Given the description of an element on the screen output the (x, y) to click on. 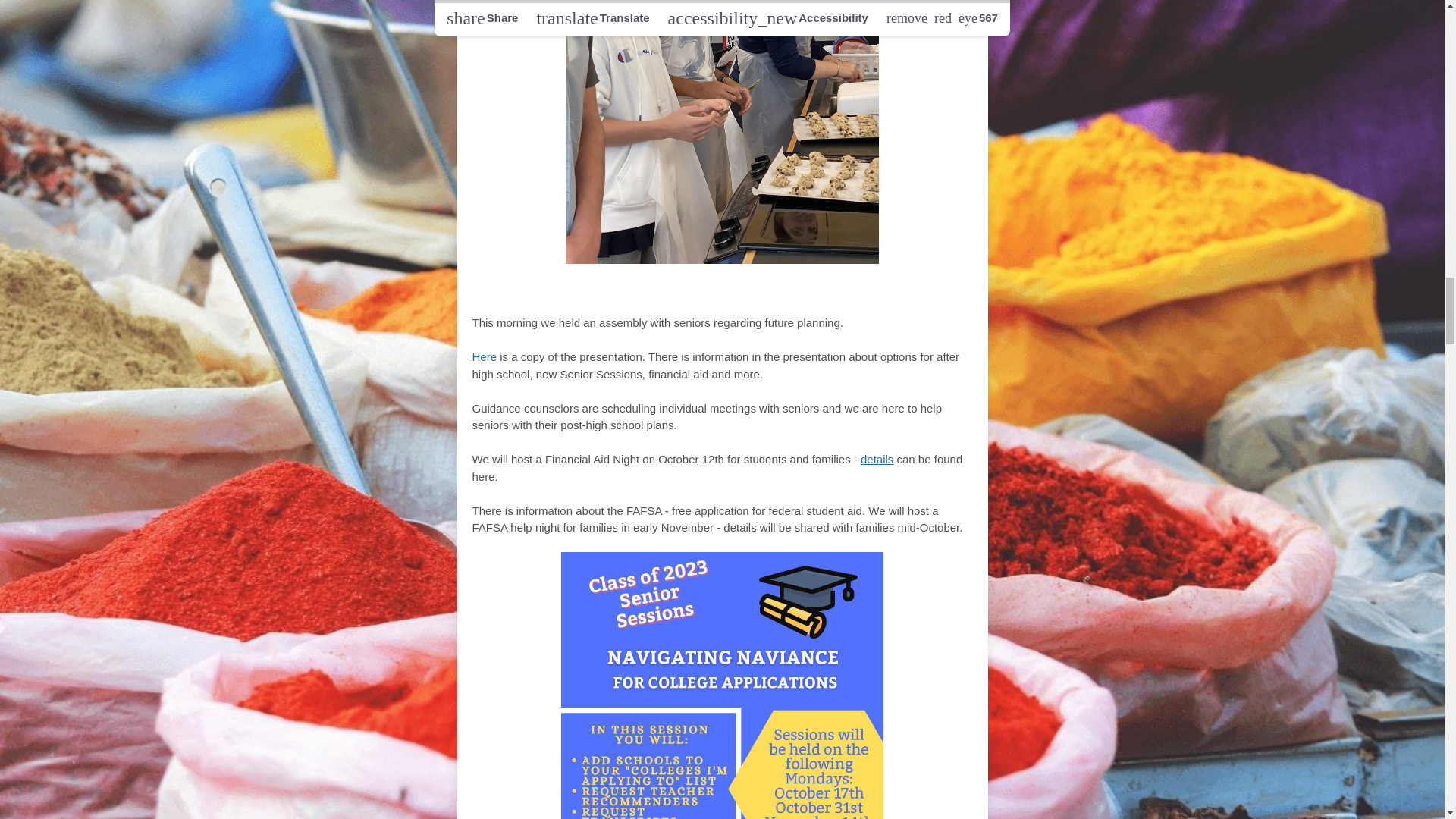
Here (483, 356)
Workshops (842, 291)
details (876, 459)
Senior (579, 291)
Planning (738, 291)
College (651, 291)
